Given the description of an element on the screen output the (x, y) to click on. 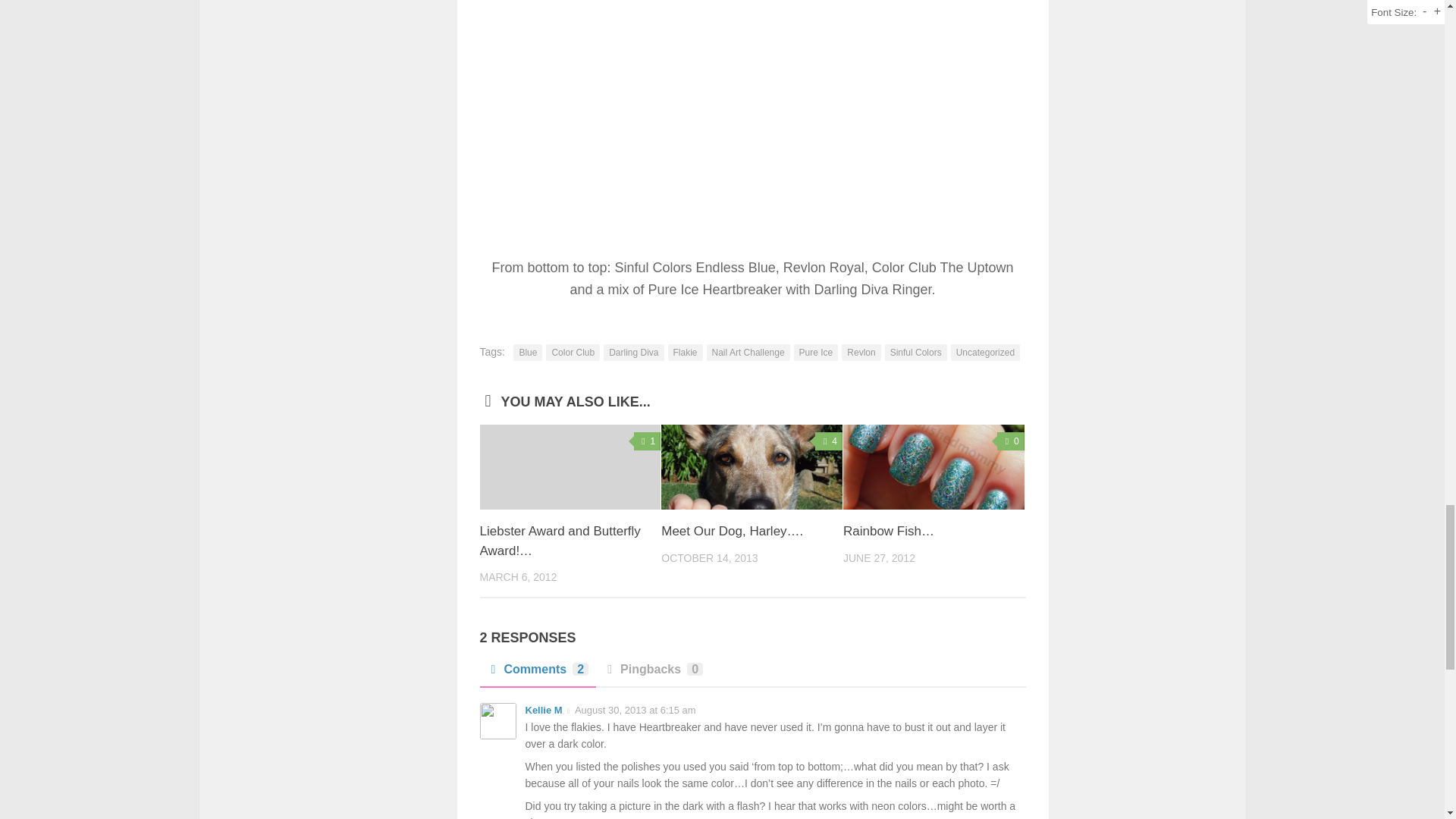
Flakie (685, 352)
Sinful Colors (916, 352)
0 (1011, 441)
1 (647, 441)
Pingbacks0 (652, 673)
Darling Diva (633, 352)
Uncategorized (985, 352)
Kellie M (543, 709)
4 (829, 441)
Pure Ice (815, 352)
Revlon (860, 352)
Blue (527, 352)
Nail Art Challenge (748, 352)
Color Club (572, 352)
Comments2 (537, 673)
